Given the description of an element on the screen output the (x, y) to click on. 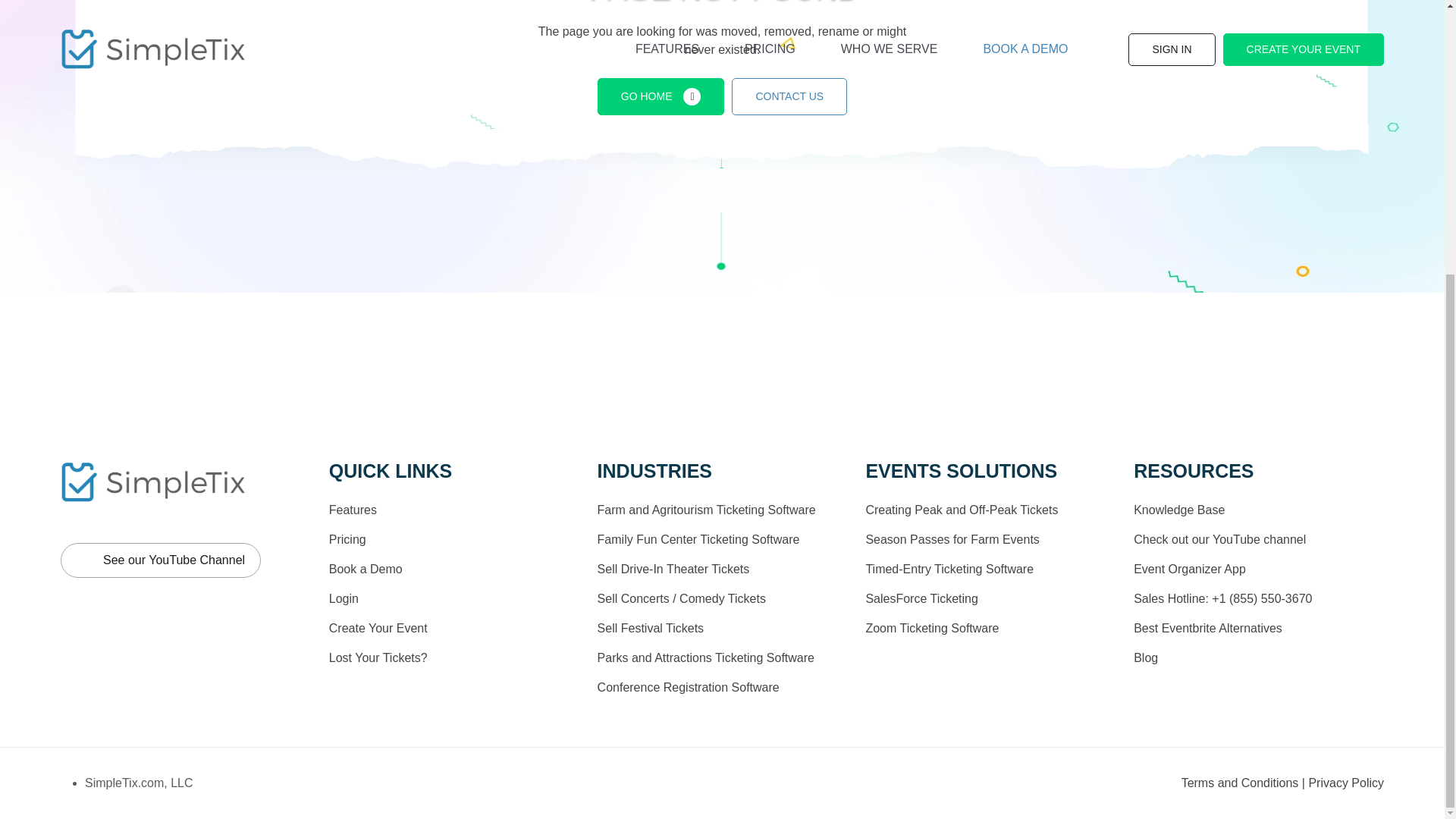
Sell Drive-In Theater Tickets (672, 568)
Privacy Policy (1345, 782)
Pricing (347, 539)
Login (343, 598)
Check out our YouTube channel (1220, 539)
Knowledge Base (1179, 509)
Sell Festival Tickets (649, 627)
Season Passes for Farm Events (951, 539)
Family Fun Center Ticketing Software (697, 539)
Zoom Ticketing Software (931, 627)
CONTACT US (789, 96)
See our YouTube Channel (160, 560)
Best Eventbrite Alternatives (1208, 627)
Features (353, 509)
Farm and Agritourism Ticketing Software (705, 509)
